Given the description of an element on the screen output the (x, y) to click on. 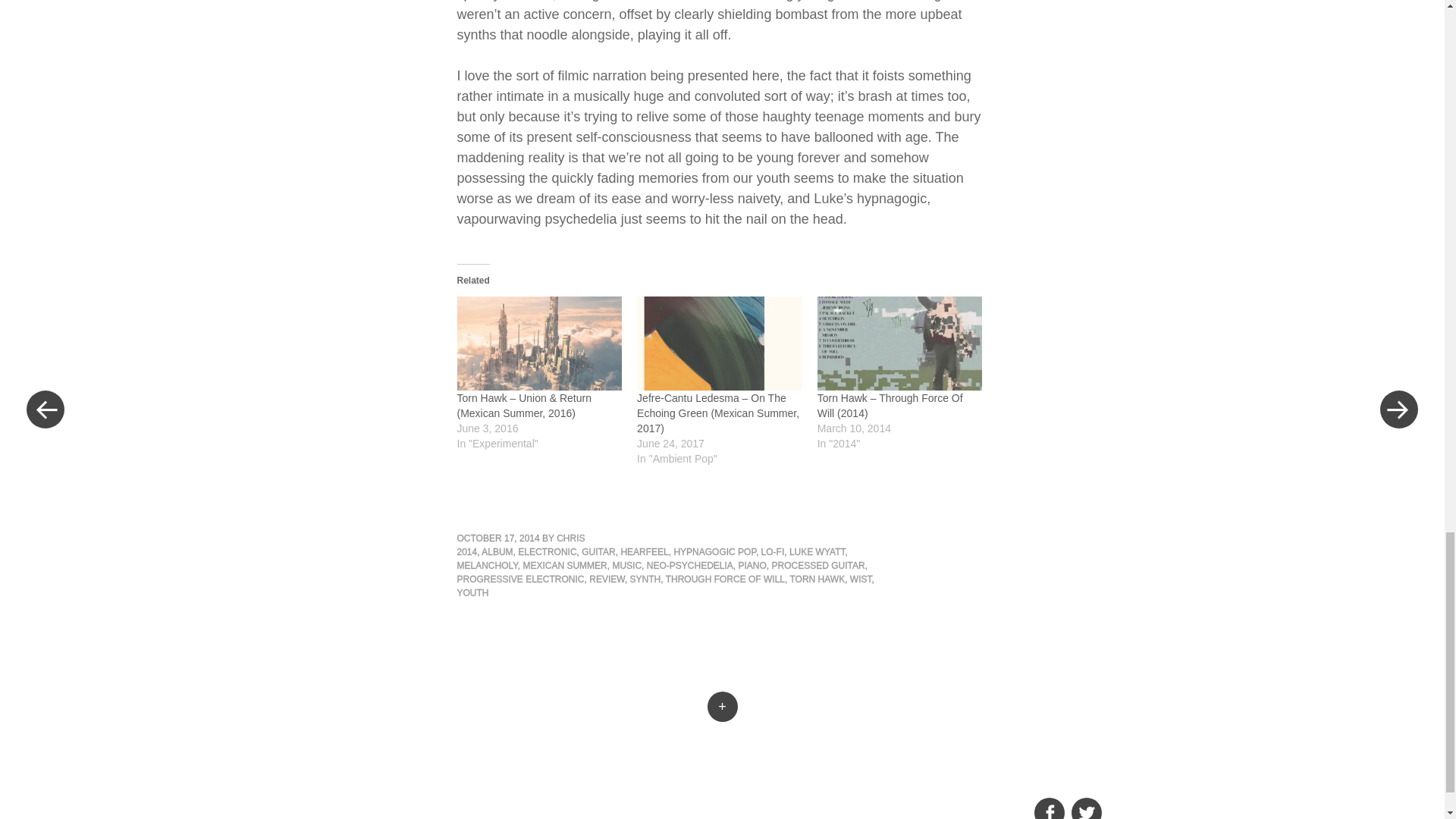
CHRIS (570, 538)
View all posts by Chris (570, 538)
HYPNAGOGIC POP (713, 552)
REVIEW (606, 579)
GUITAR (597, 552)
HEARFEEL (644, 552)
NEO-PSYCHEDELIA (689, 565)
LO-FI (772, 552)
ELECTRONIC (547, 552)
OCTOBER 17, 2014 (497, 538)
